Given the description of an element on the screen output the (x, y) to click on. 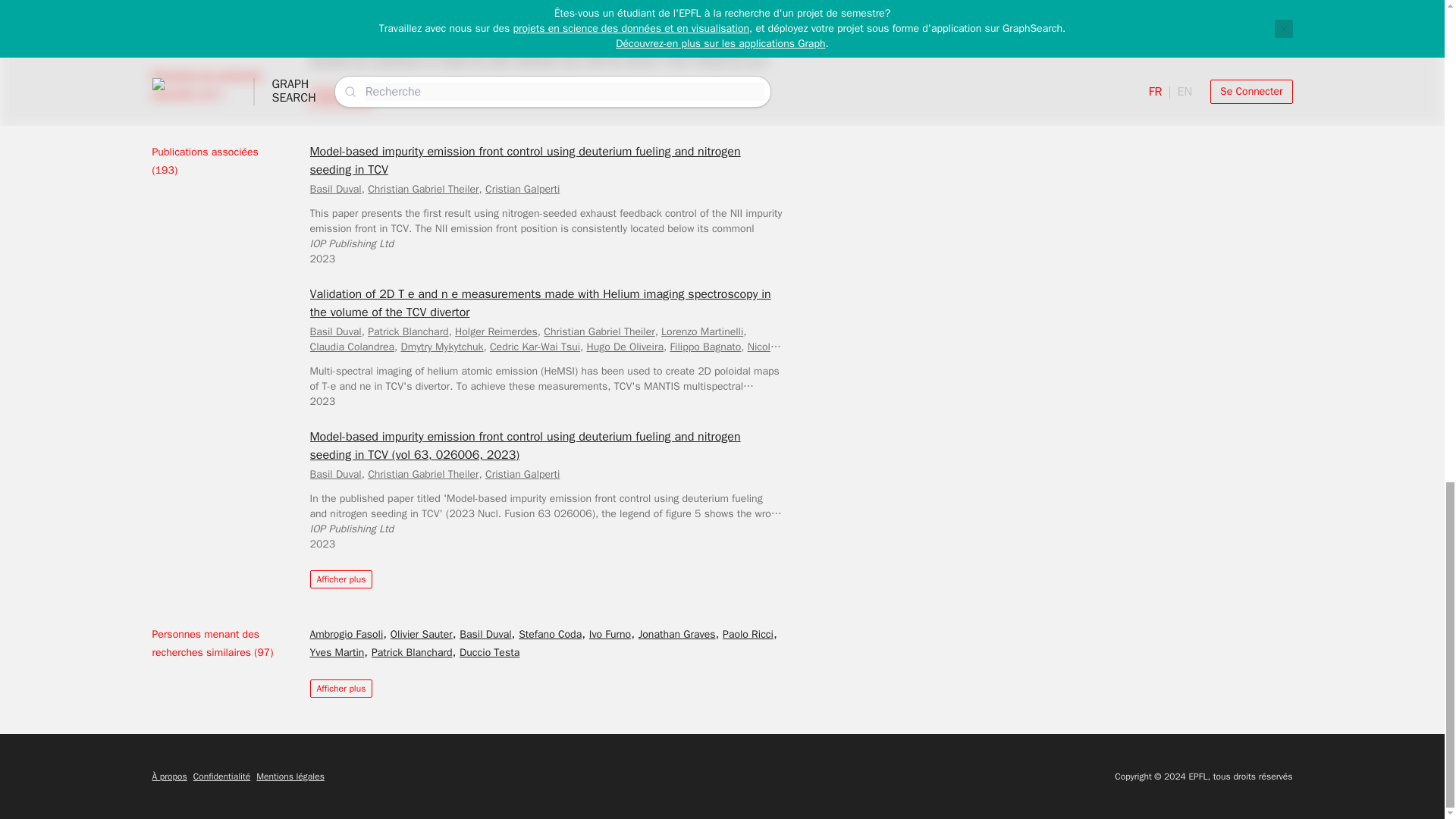
Masse volumique (355, 27)
Afficher plus (340, 96)
